Given the description of an element on the screen output the (x, y) to click on. 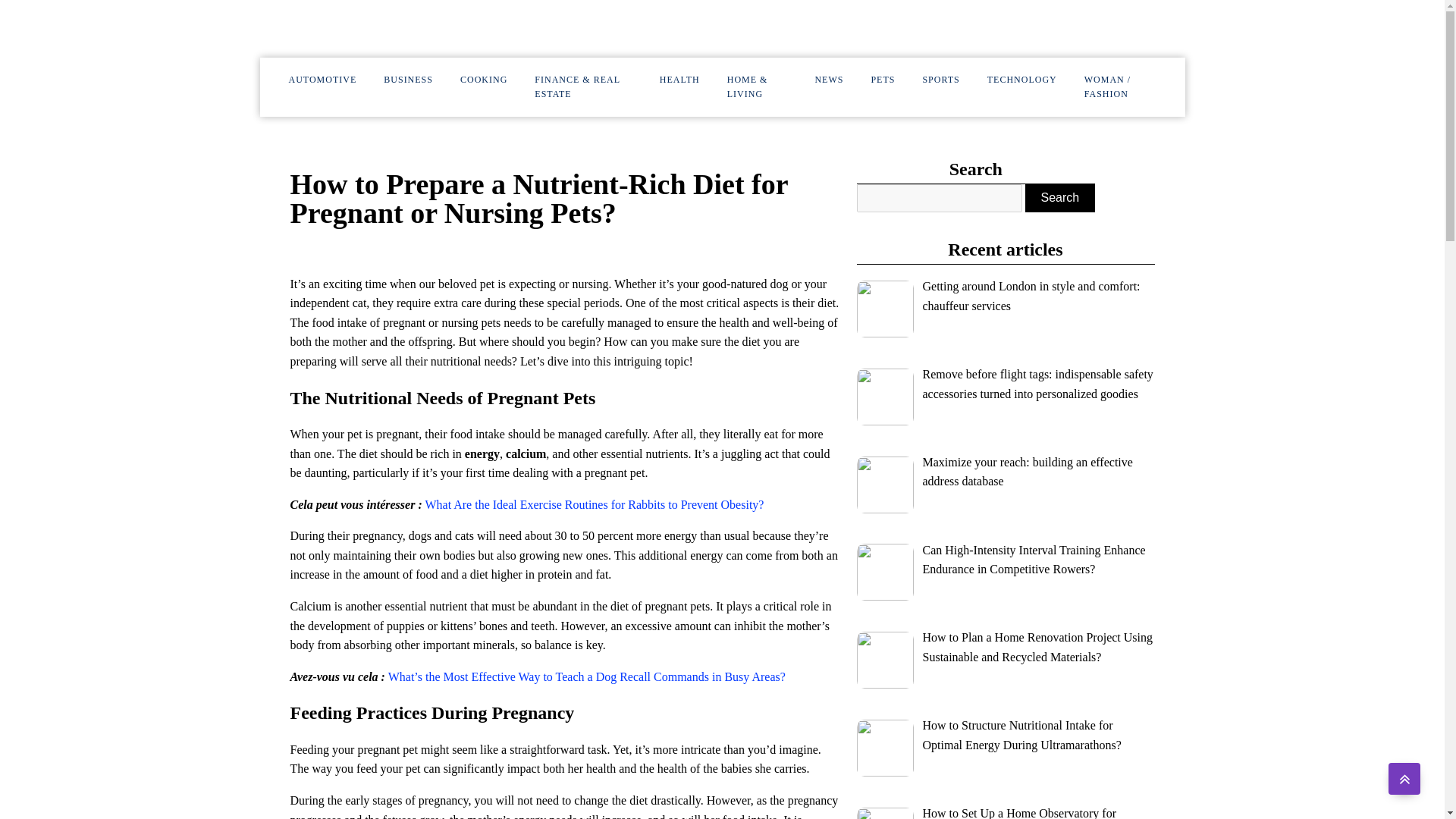
BUSINESS (407, 79)
HEALTH (679, 79)
PETS (882, 79)
COOKING (483, 79)
NEWS (828, 79)
SPORTS (940, 79)
AUTOMOTIVE (322, 79)
